Given the description of an element on the screen output the (x, y) to click on. 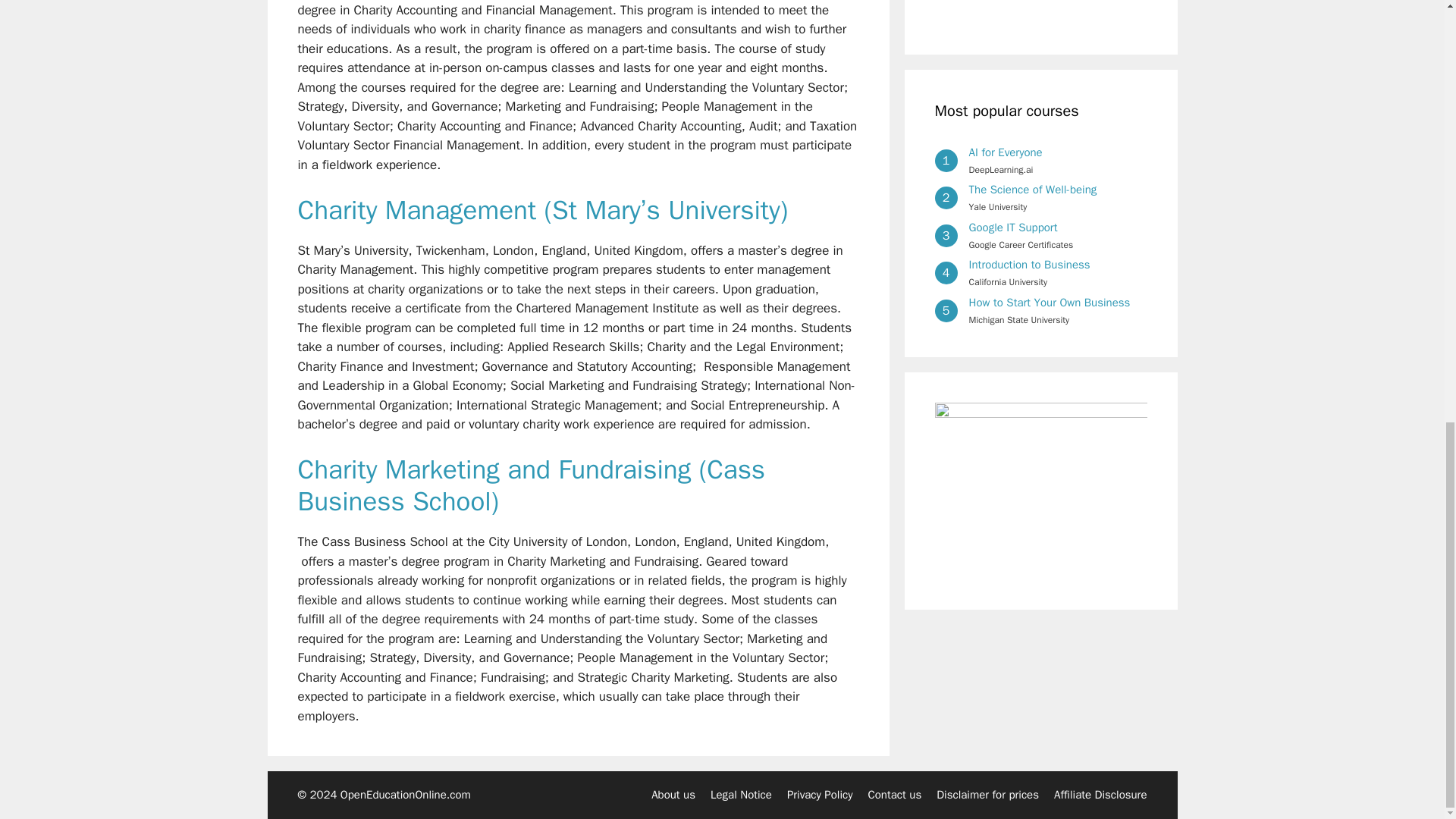
AI for Everyone (1005, 151)
Disclaimer for prices (987, 794)
Legal Notice (740, 794)
About us (672, 794)
The Science of Well-being (1033, 189)
Google IT Support (1013, 227)
Introduction to Business (1029, 264)
Affiliate Disclosure (1100, 794)
Privacy Policy (820, 794)
How to Start Your Own Business (1050, 302)
